Given the description of an element on the screen output the (x, y) to click on. 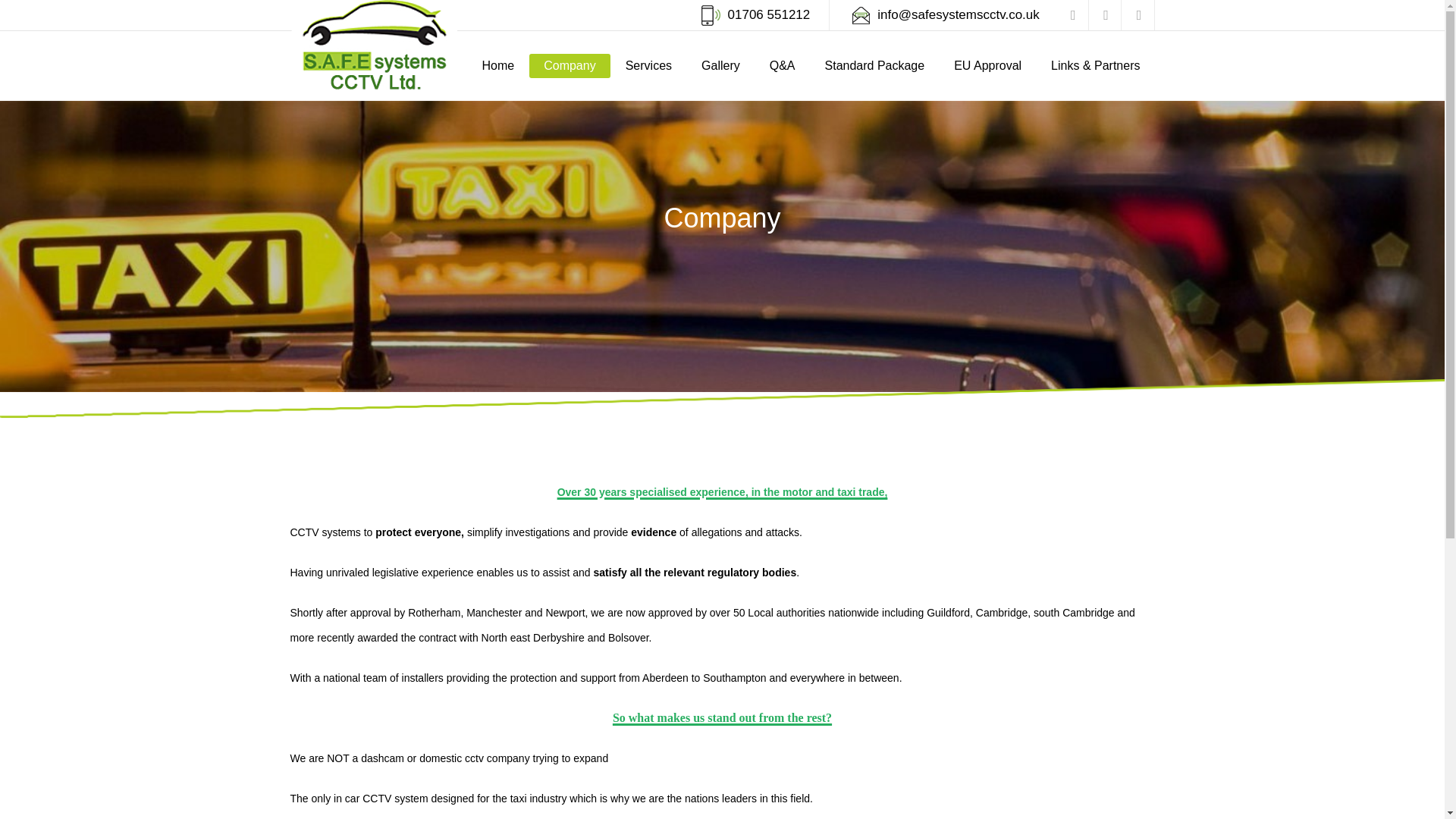
01706 551212 (769, 14)
EU Approval (987, 65)
Home (497, 65)
Gallery (720, 65)
Company (569, 65)
Services (648, 65)
Standard Package (874, 65)
